Given the description of an element on the screen output the (x, y) to click on. 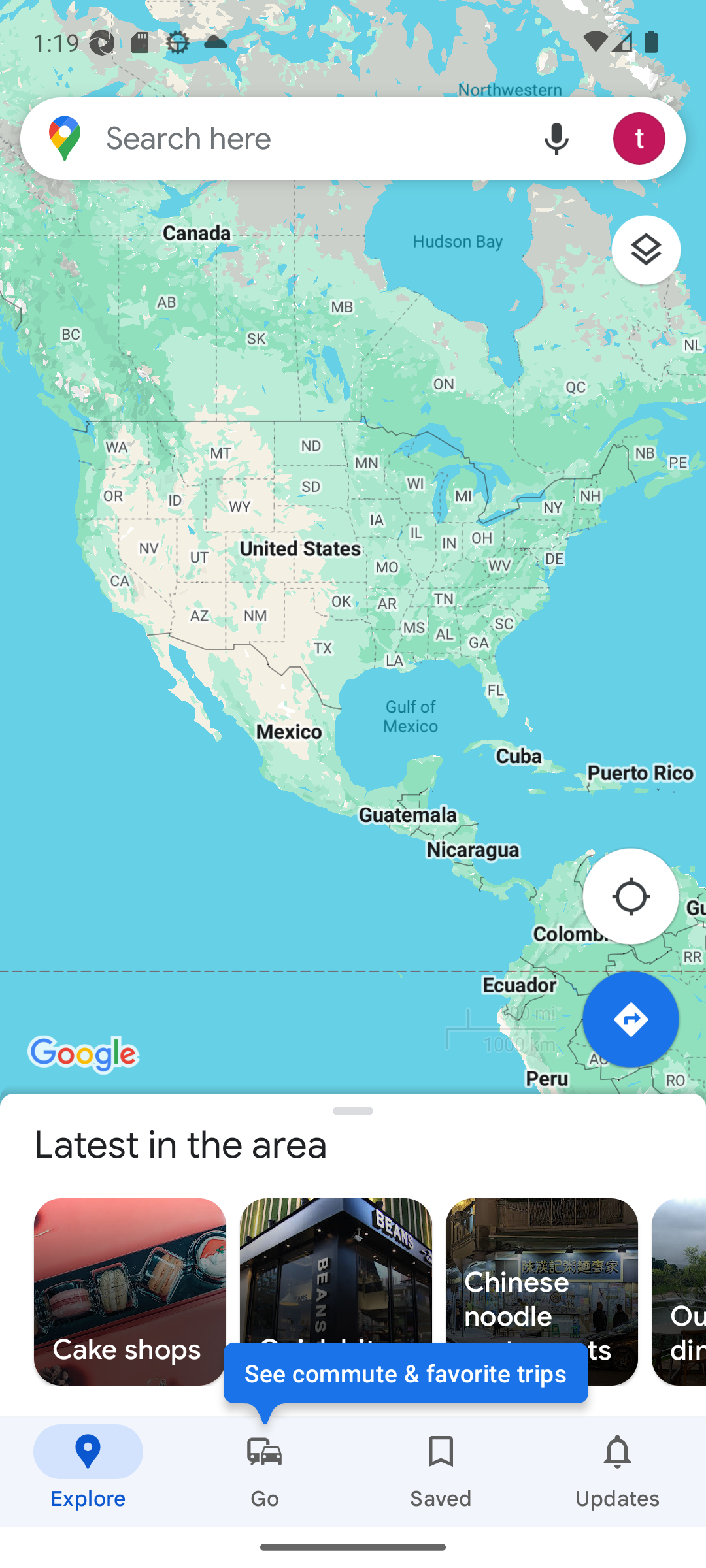
Search here (268, 138)
Voice search (556, 138)
Account and settings. (641, 138)
Layers (656, 256)
Re-center map to your location (641, 902)
Directions (641, 1029)
Cake shops (129, 1291)
Quick bites (336, 1291)
Chinese noodle restaurants (541, 1291)
Go (264, 1472)
Saved (441, 1472)
Updates (617, 1472)
